Given the description of an element on the screen output the (x, y) to click on. 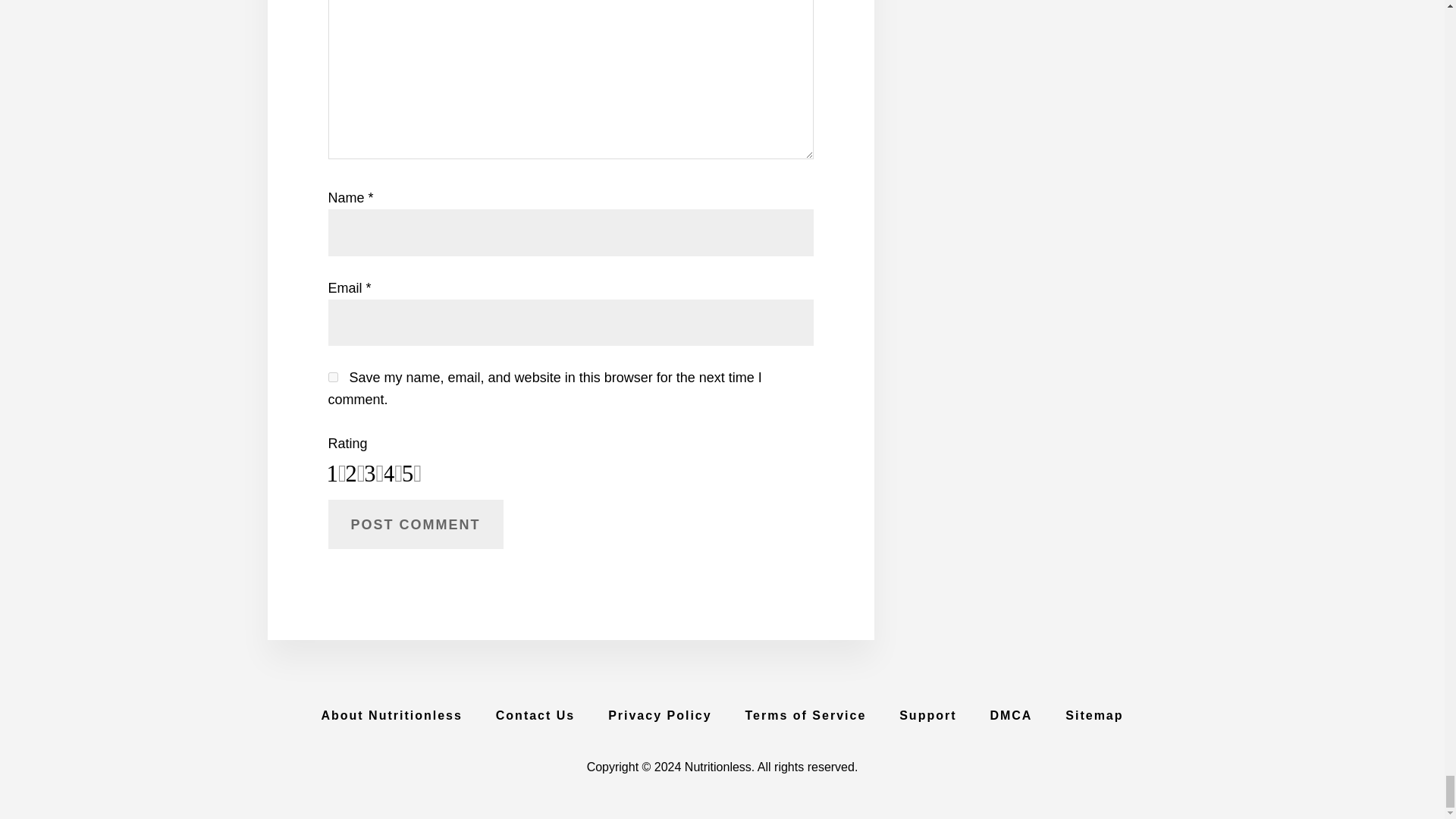
yes (332, 377)
Post Comment (414, 523)
